Given the description of an element on the screen output the (x, y) to click on. 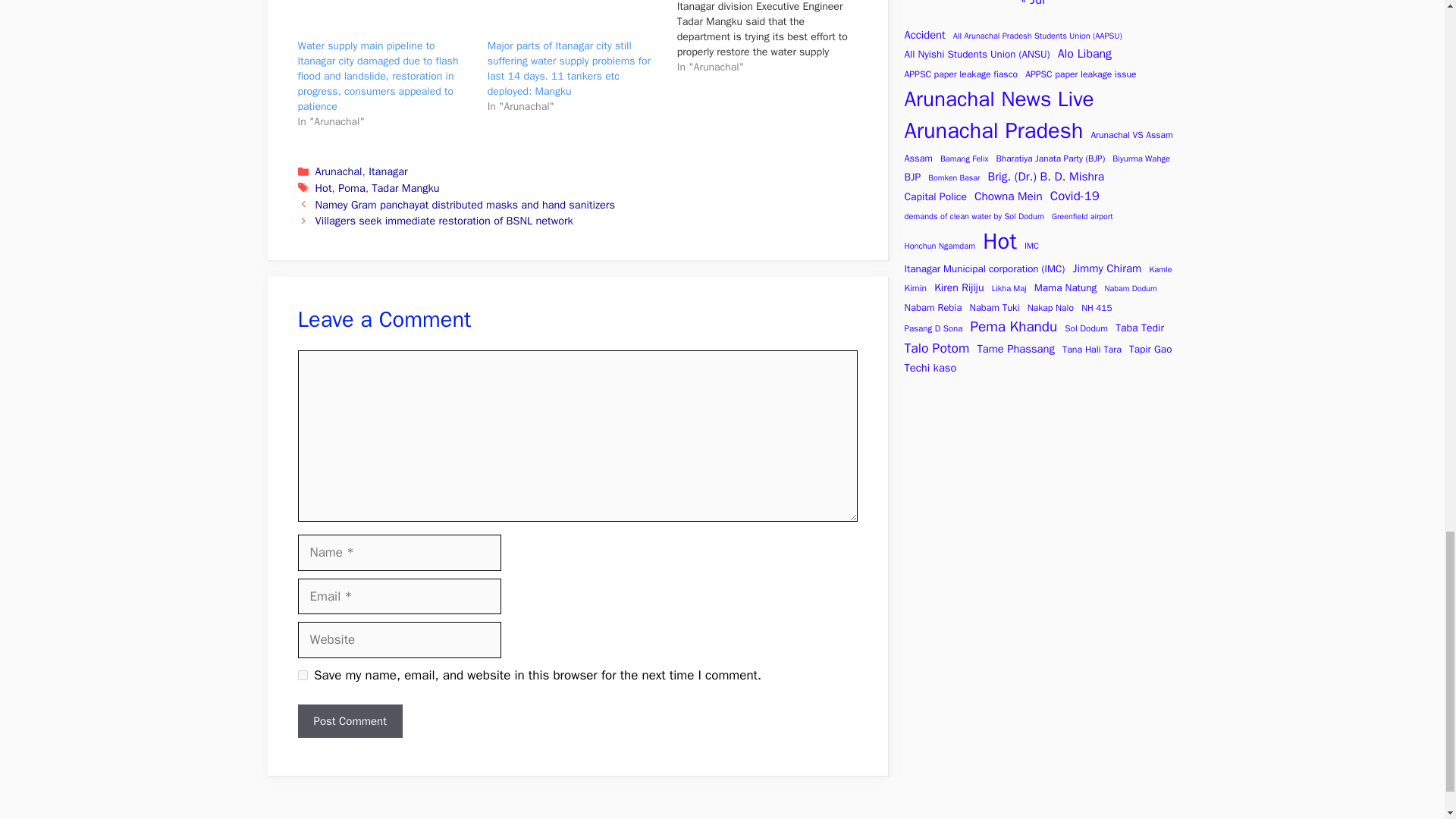
yes (302, 675)
Poma (351, 187)
Villagers seek immediate restoration of BSNL network (444, 220)
Hot (323, 187)
Arunachal (338, 171)
Post Comment (349, 721)
Namey Gram panchayat distributed masks and hand sanitizers (464, 204)
